Given the description of an element on the screen output the (x, y) to click on. 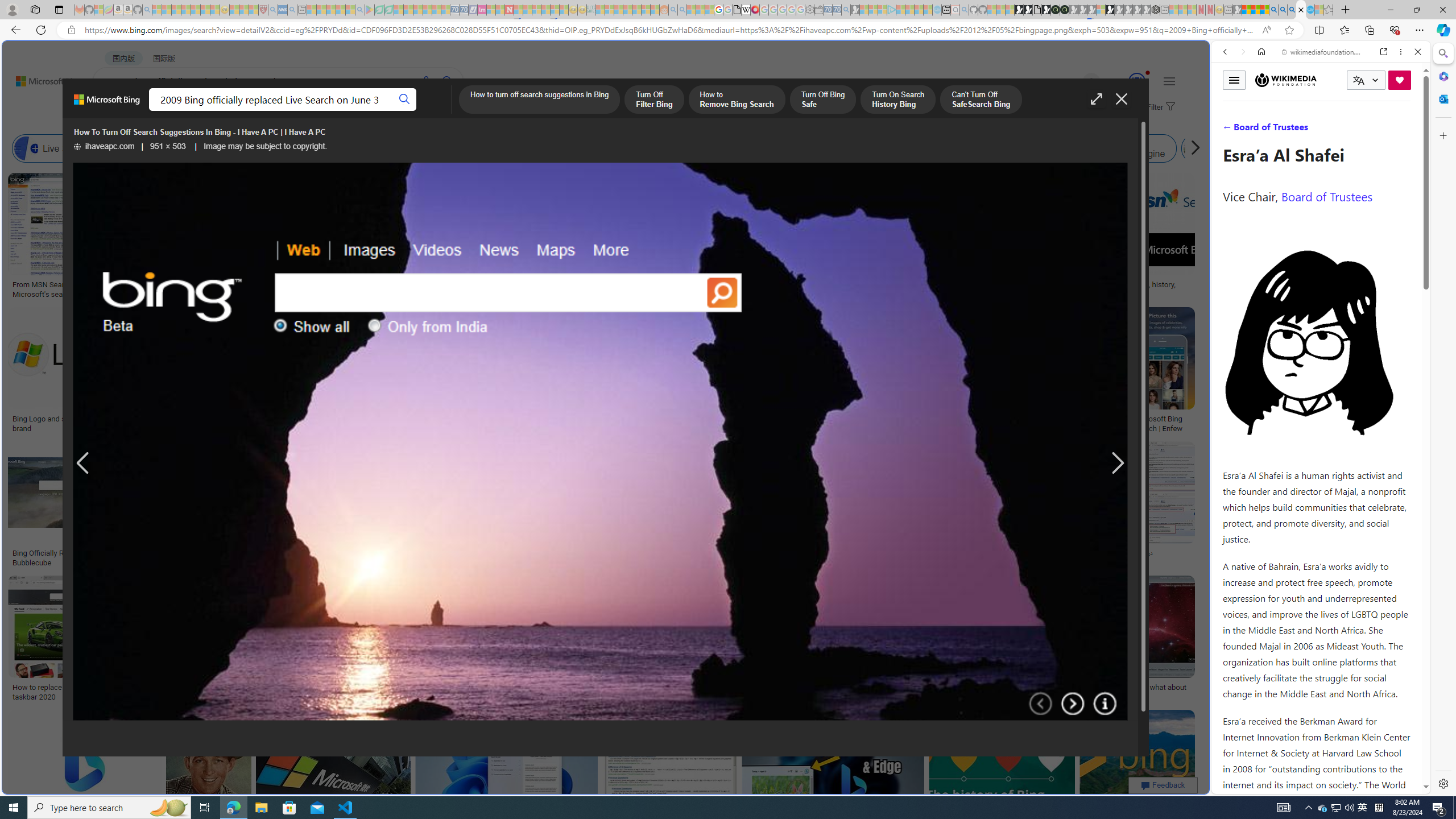
Jobs - lastminute.com Investor Portal - Sleeping (482, 9)
Technology History timeline | Timetoast timelinesSave (835, 237)
Bing Ai Search Engine Powered (536, 148)
Turn Off Filter Bing (654, 100)
Remove the 'News & Interests' bar from Bing | TechLife (857, 419)
Play Cave FRVR in your browser | Games from Microsoft Start (922, 242)
